Given the description of an element on the screen output the (x, y) to click on. 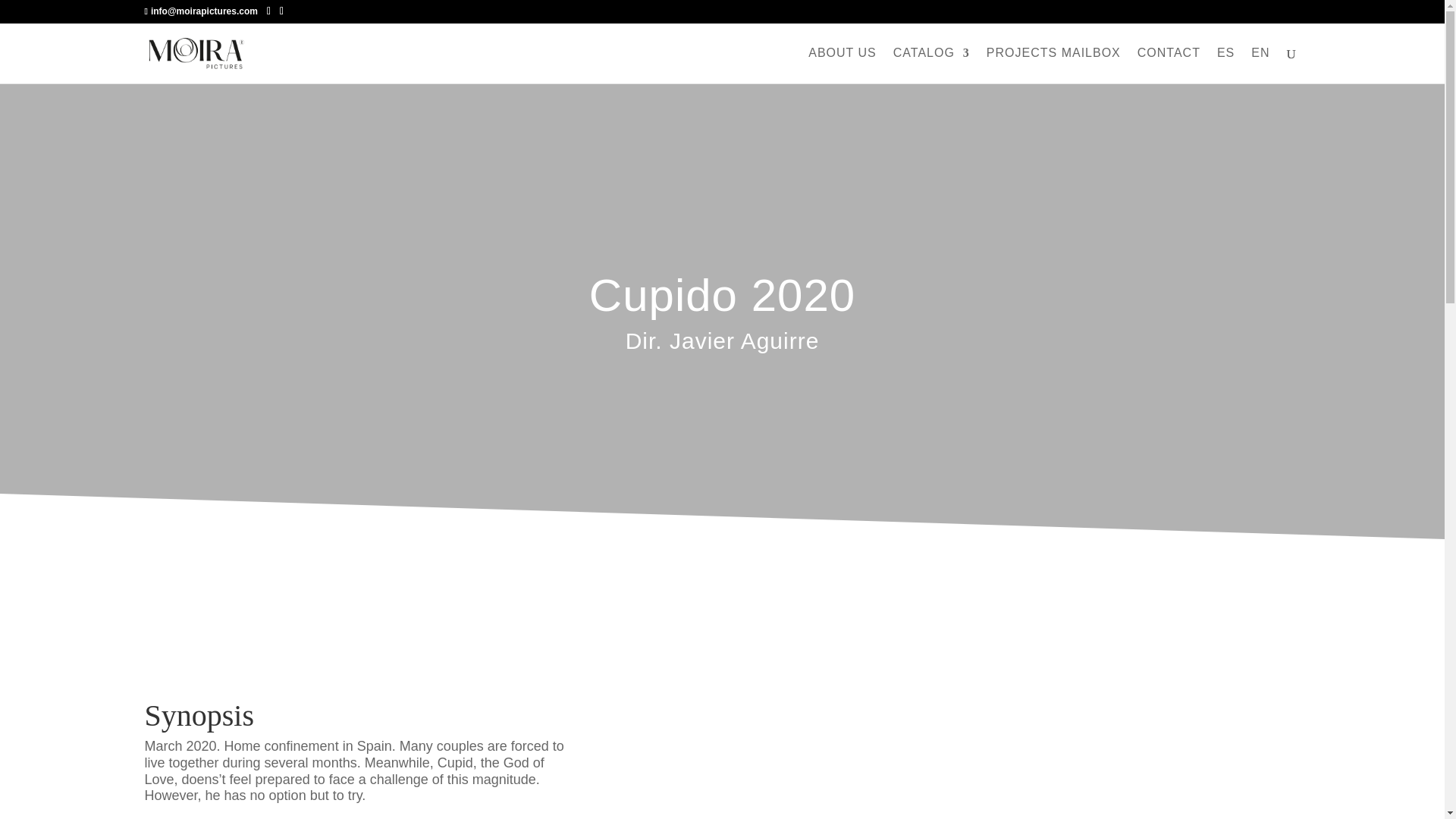
CUPIDO 2020. Trailer (965, 763)
CONTACT (1168, 65)
ABOUT US (842, 65)
CATALOG (931, 65)
PROJECTS MAILBOX (1054, 65)
